Given the description of an element on the screen output the (x, y) to click on. 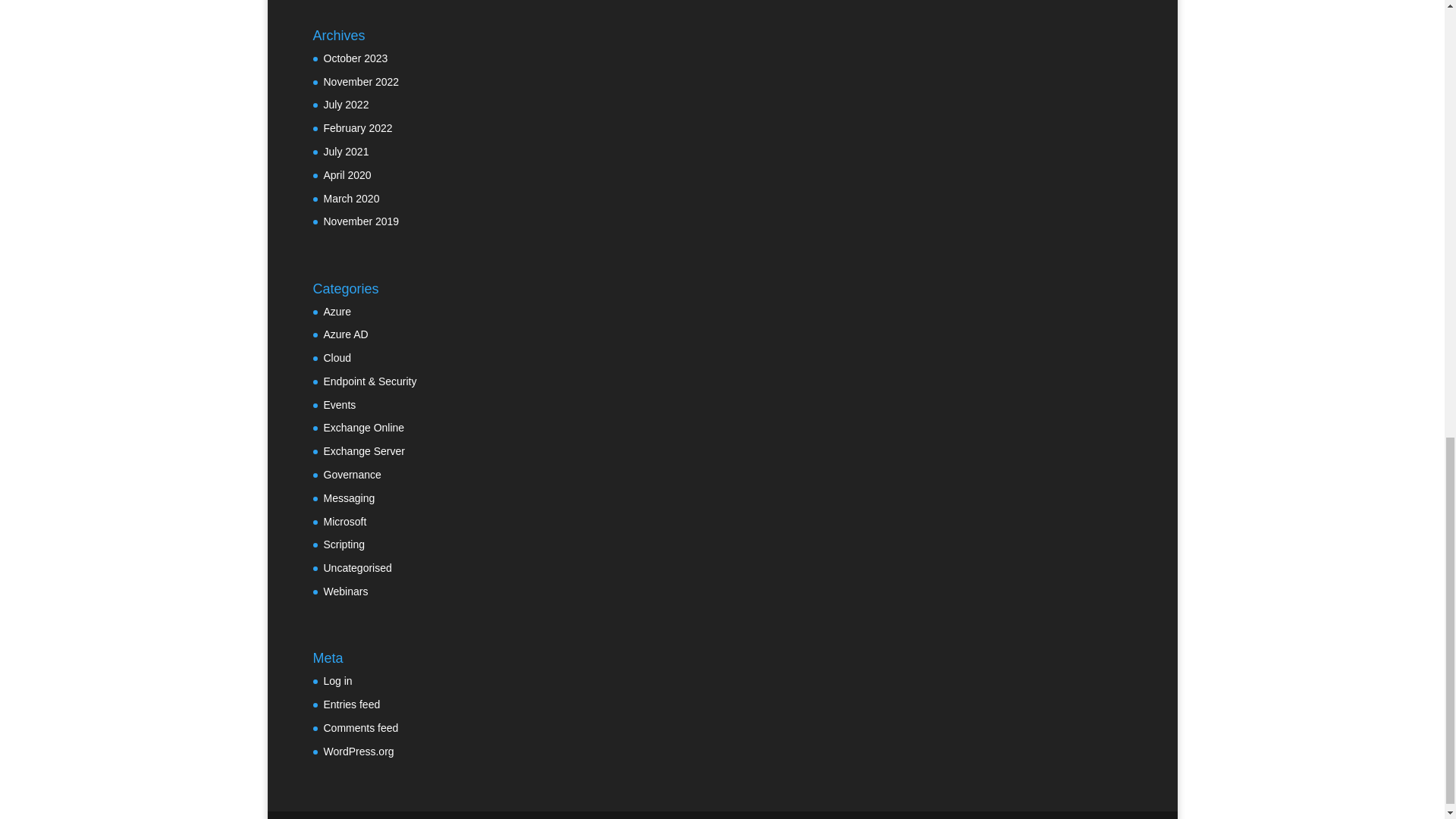
July 2022 (345, 104)
July 2021 (345, 151)
October 2023 (355, 58)
Messaging (348, 498)
Comments feed (360, 727)
Events (339, 404)
Governance (351, 474)
Exchange Server (363, 451)
Entries feed (351, 704)
Microsoft (344, 521)
April 2020 (347, 174)
February 2022 (357, 128)
Exchange Online (363, 427)
November 2019 (360, 221)
Log in (337, 680)
